Given the description of an element on the screen output the (x, y) to click on. 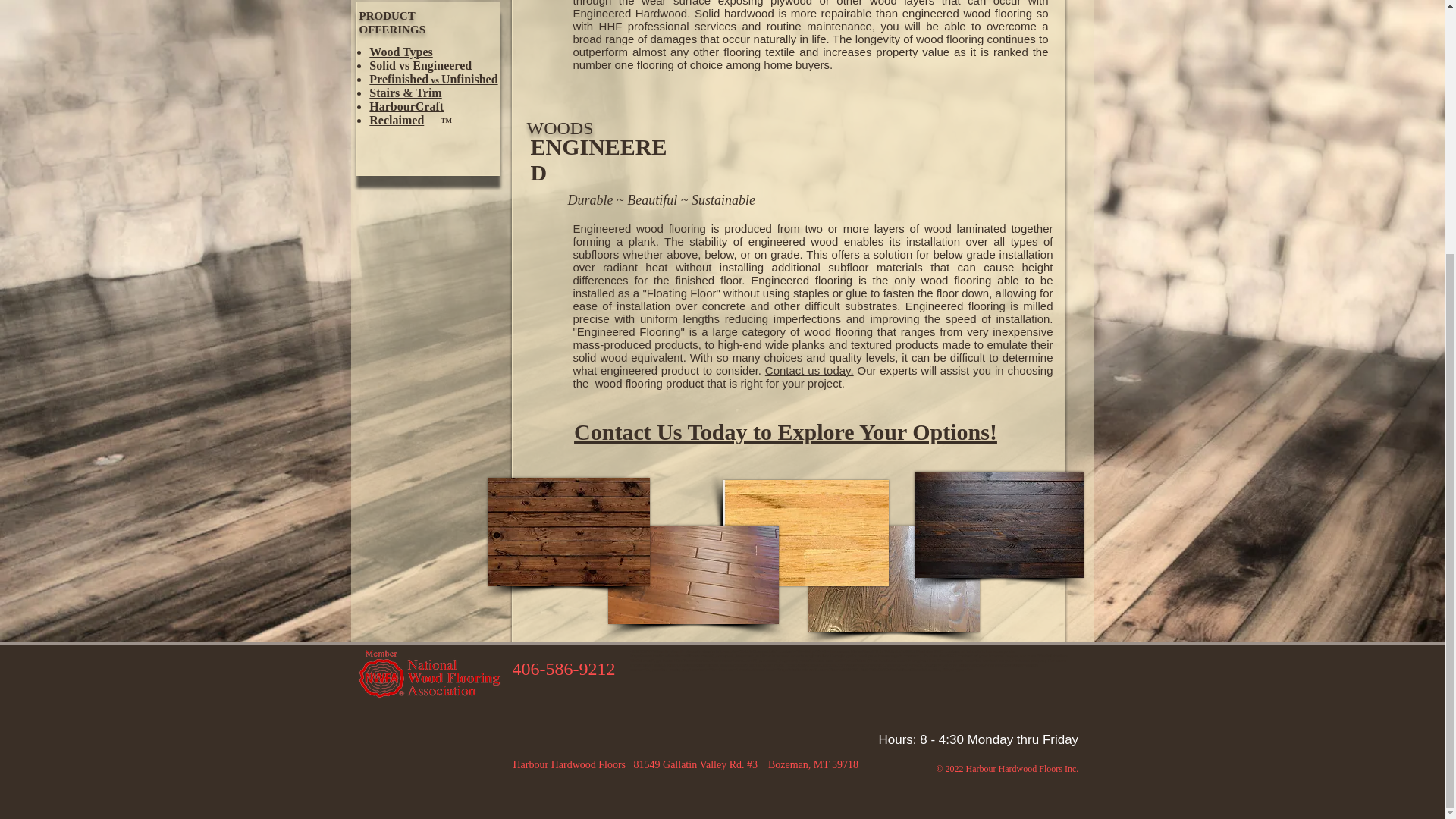
NFWA.png (428, 674)
Contact Us Today to Explore Your Options! (785, 431)
HarbourCraft (406, 106)
Prefinished vs Unfinished (433, 78)
Wood Types (400, 51)
Contact us today. (809, 369)
Solid vs Engineered (420, 65)
Reclaimed (396, 119)
